Given the description of an element on the screen output the (x, y) to click on. 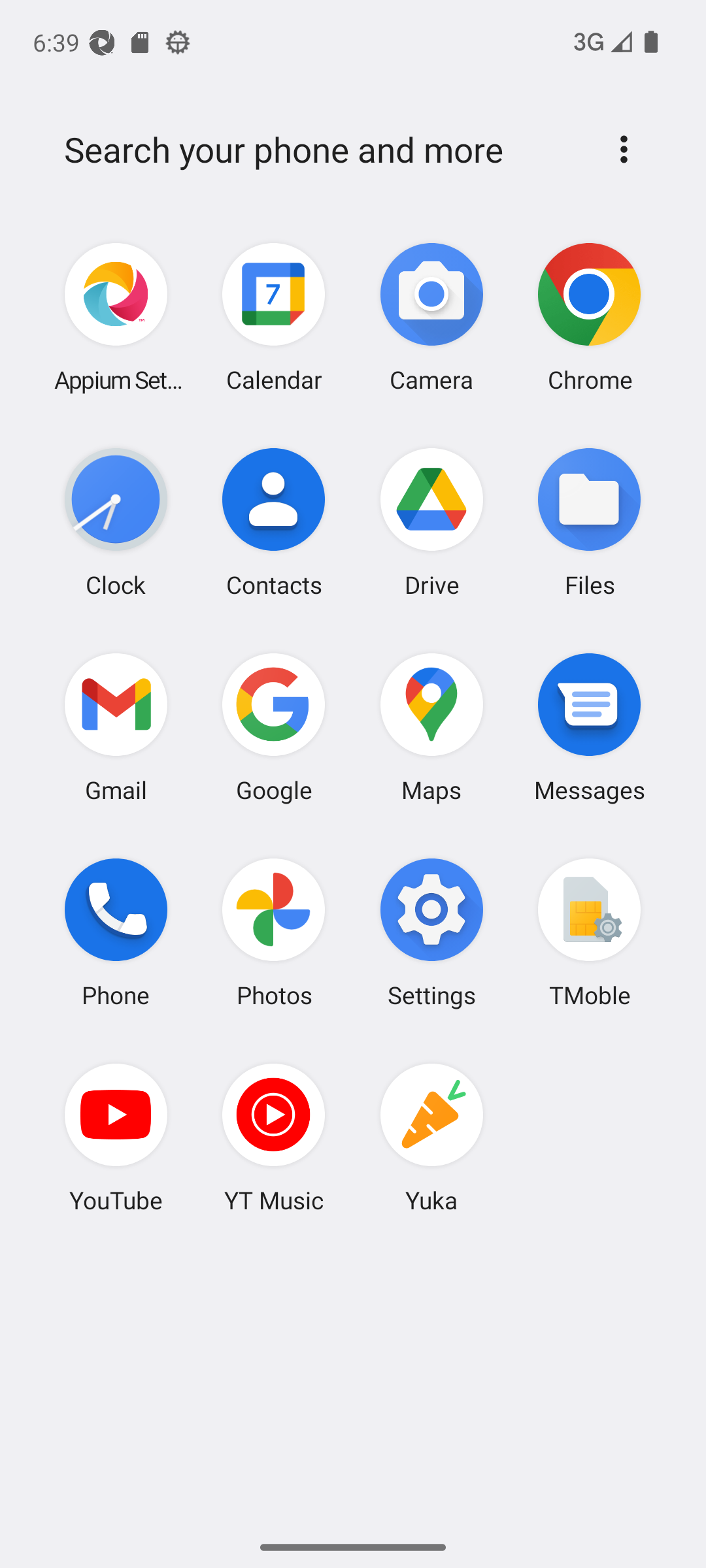
Search your phone and more (321, 149)
Preferences (623, 149)
Appium Settings (115, 317)
Calendar (273, 317)
Camera (431, 317)
Chrome (589, 317)
Clock (115, 522)
Contacts (273, 522)
Drive (431, 522)
Files (589, 522)
Gmail (115, 726)
Google (273, 726)
Maps (431, 726)
Messages (589, 726)
Phone (115, 931)
Photos (273, 931)
Settings (431, 931)
TMoble (589, 931)
YouTube (115, 1137)
YT Music (273, 1137)
Yuka (431, 1137)
